Given the description of an element on the screen output the (x, y) to click on. 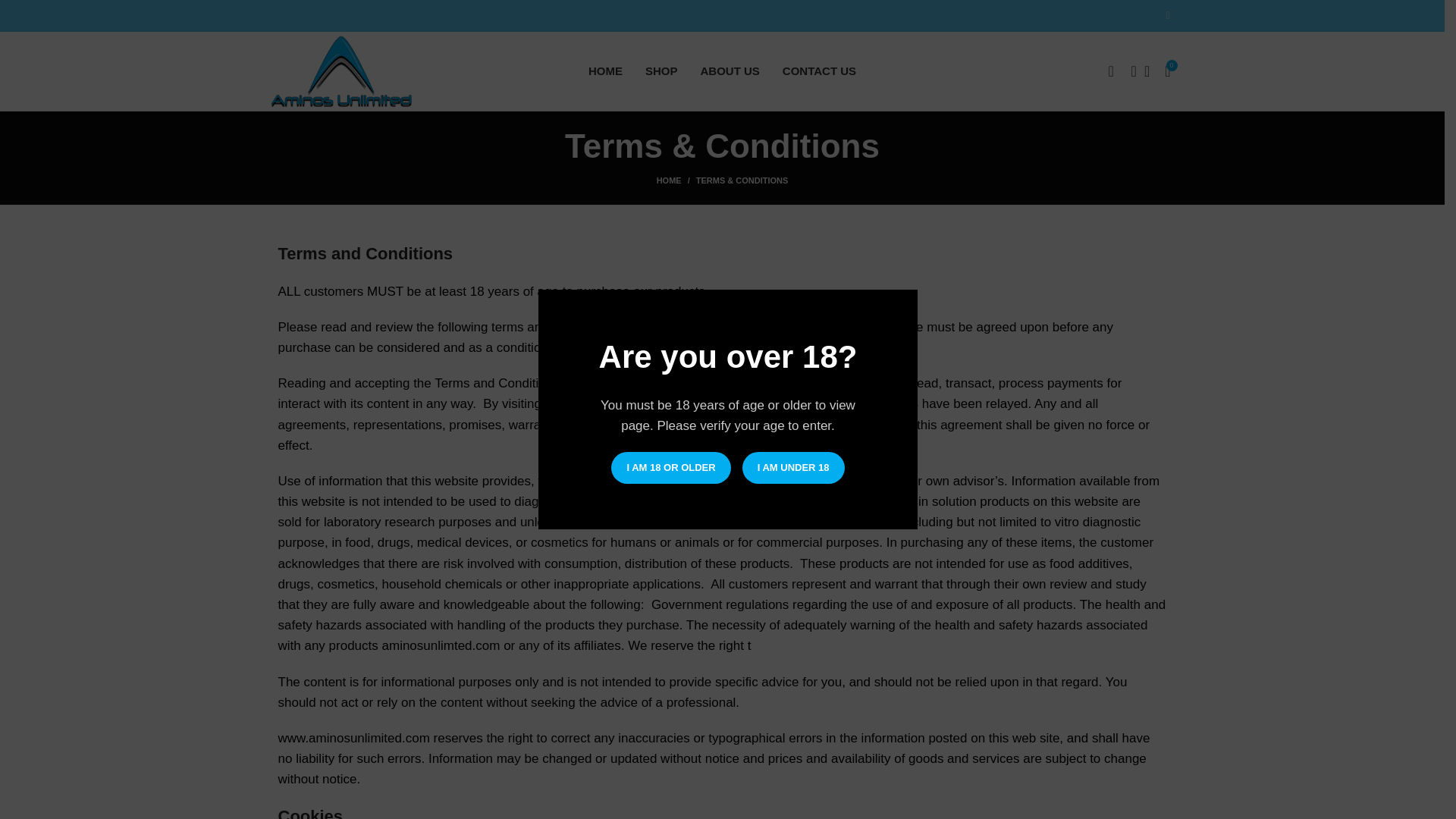
I AM UNDER 18 (793, 468)
SHOP (661, 71)
I AM 18 OR OLDER (670, 468)
HOME (675, 180)
CONTACT US (819, 71)
HOME (605, 71)
Log in (988, 323)
ABOUT US (729, 71)
